Given the description of an element on the screen output the (x, y) to click on. 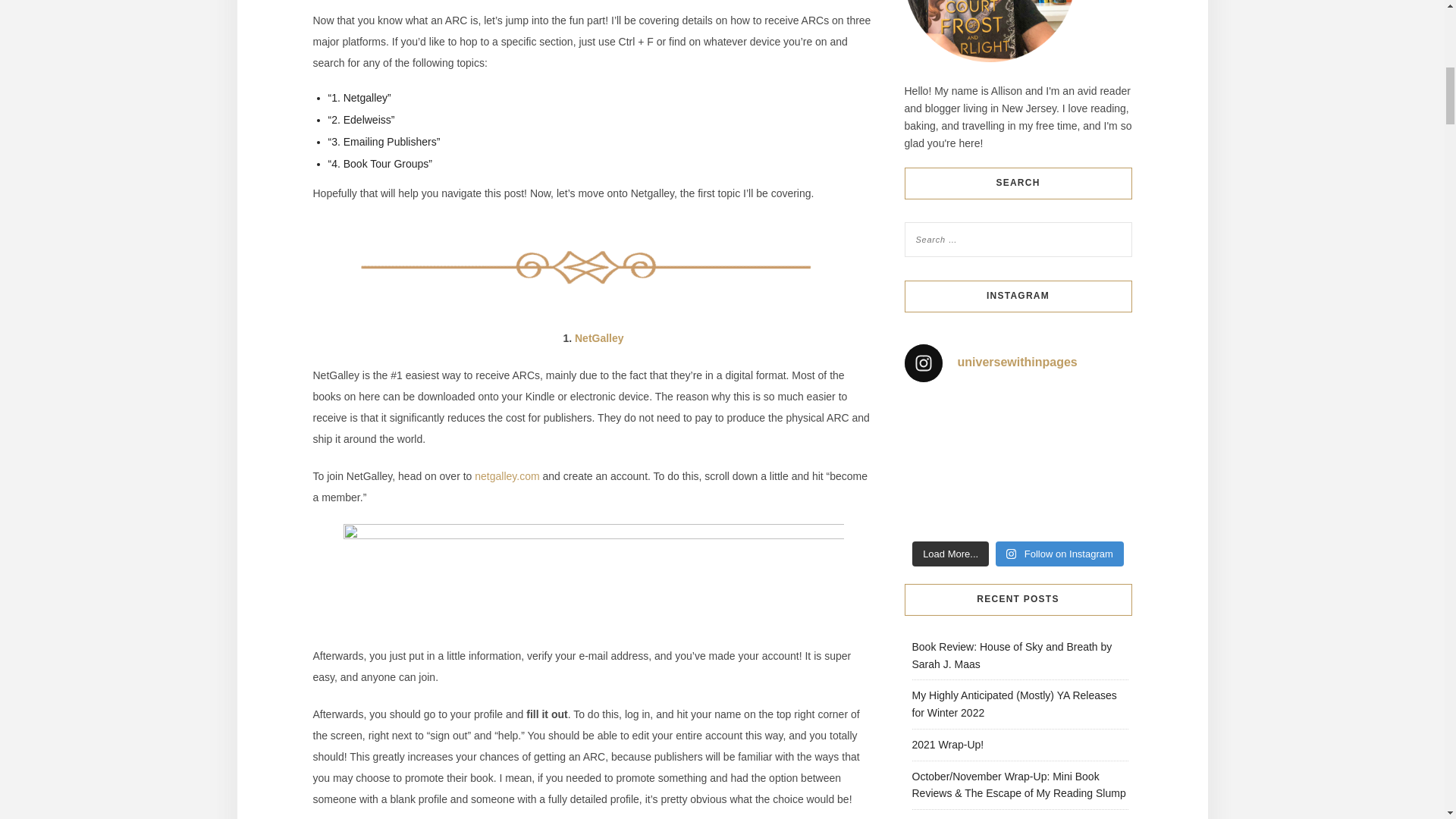
netgalley.com (506, 476)
NetGalley (599, 337)
About Me (989, 31)
